Given the description of an element on the screen output the (x, y) to click on. 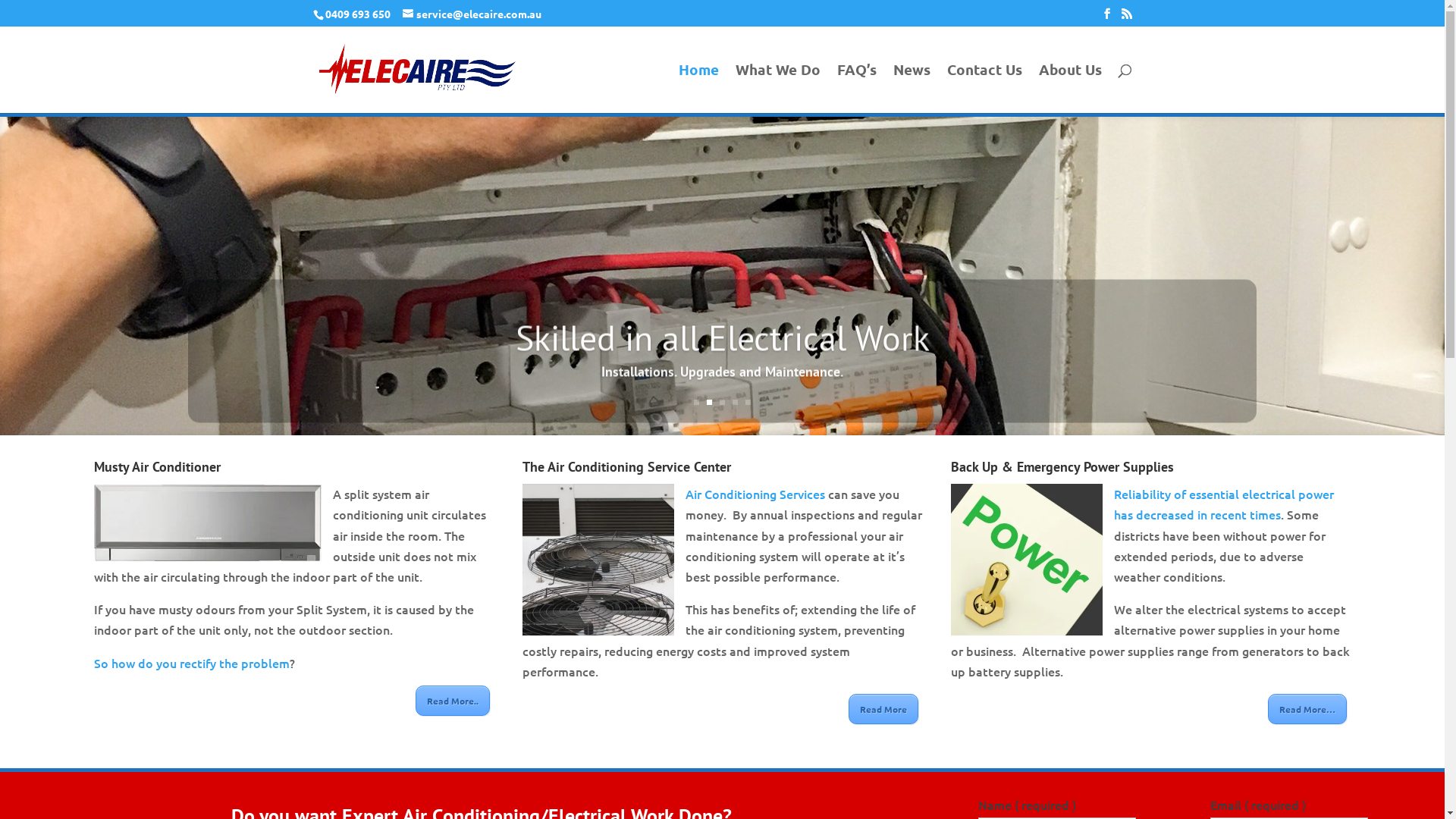
2 Element type: text (709, 401)
Read More.. Element type: text (452, 700)
Musty Air Conditioner Element type: text (157, 466)
3 Element type: text (721, 401)
5 Element type: text (747, 401)
Contact Us Element type: text (983, 88)
0409 693 650 Element type: text (355, 12)
1 Element type: text (696, 401)
service@elecaire.com.au Element type: text (470, 12)
4 Element type: text (734, 401)
Back Up & Emergency Power Supplies Element type: text (1061, 466)
About Us Element type: text (1069, 88)
The Air Conditioning Service Center Element type: text (626, 466)
What We Do Element type: text (777, 88)
So how do you rectify the problem Element type: text (191, 661)
Home Element type: text (697, 88)
Read More Element type: text (883, 708)
Air Conditioning Services Element type: text (755, 493)
0409 693 650 Element type: text (356, 12)
News Element type: text (911, 88)
